Given the description of an element on the screen output the (x, y) to click on. 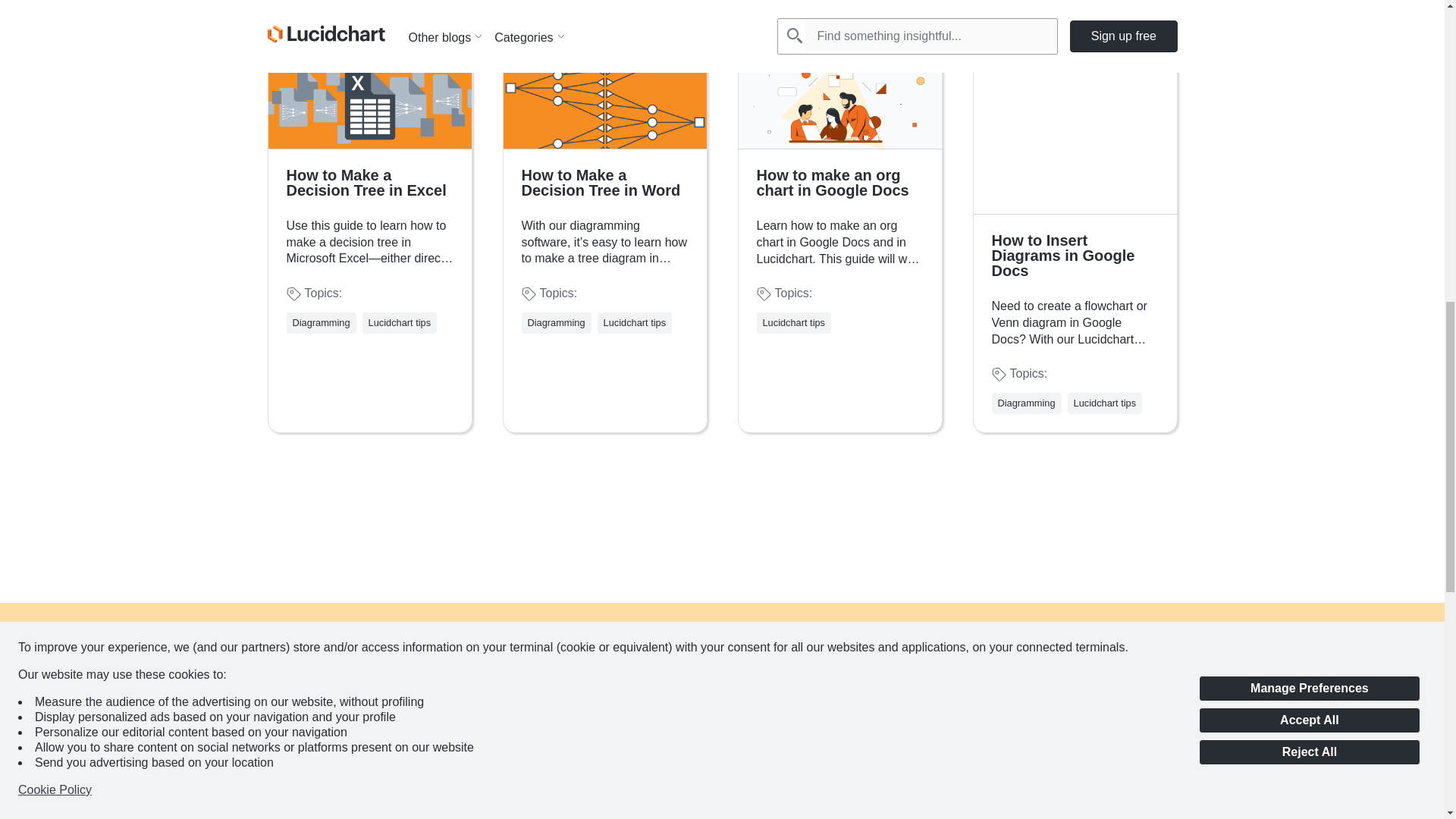
Sign up free (721, 716)
Project management (806, 2)
Lucidchart tips (635, 322)
Sign in (618, 792)
Diagramming (321, 322)
Sign in (824, 792)
Lucidchart tips (399, 322)
Lucidchart tips (1105, 402)
Sign in (721, 792)
Diagramming (1026, 402)
